Given the description of an element on the screen output the (x, y) to click on. 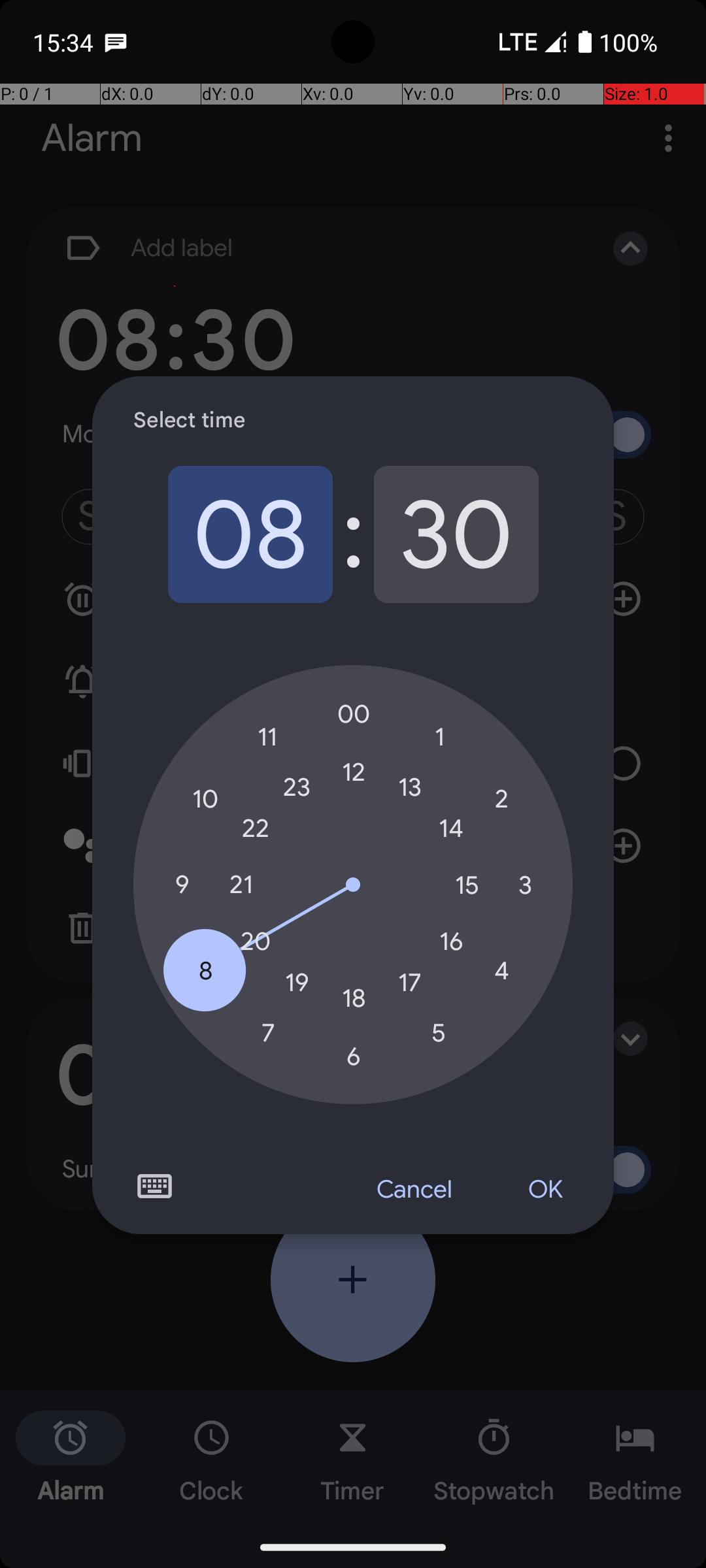
08 Element type: android.view.View (250, 534)
